Given the description of an element on the screen output the (x, y) to click on. 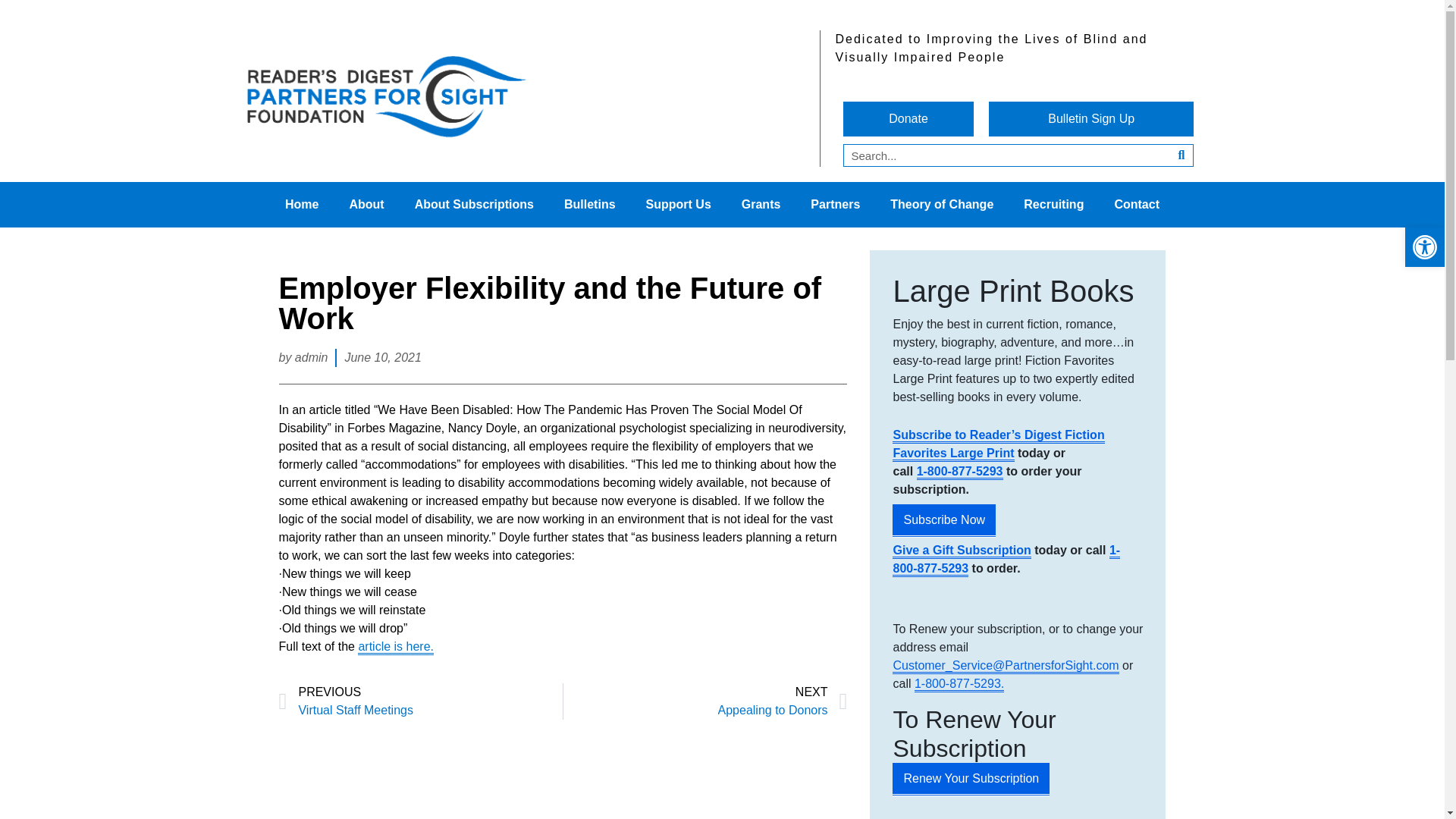
Recruiting (1054, 204)
Home (301, 204)
Donate (908, 118)
Accessibility Tools (1424, 247)
About (365, 204)
Contact (1136, 204)
Partners (834, 204)
Grants (761, 204)
Support Us (678, 204)
About Subscriptions (473, 204)
Bulletin Sign Up (1090, 118)
Theory of Change (942, 204)
Bulletins (589, 204)
